Given the description of an element on the screen output the (x, y) to click on. 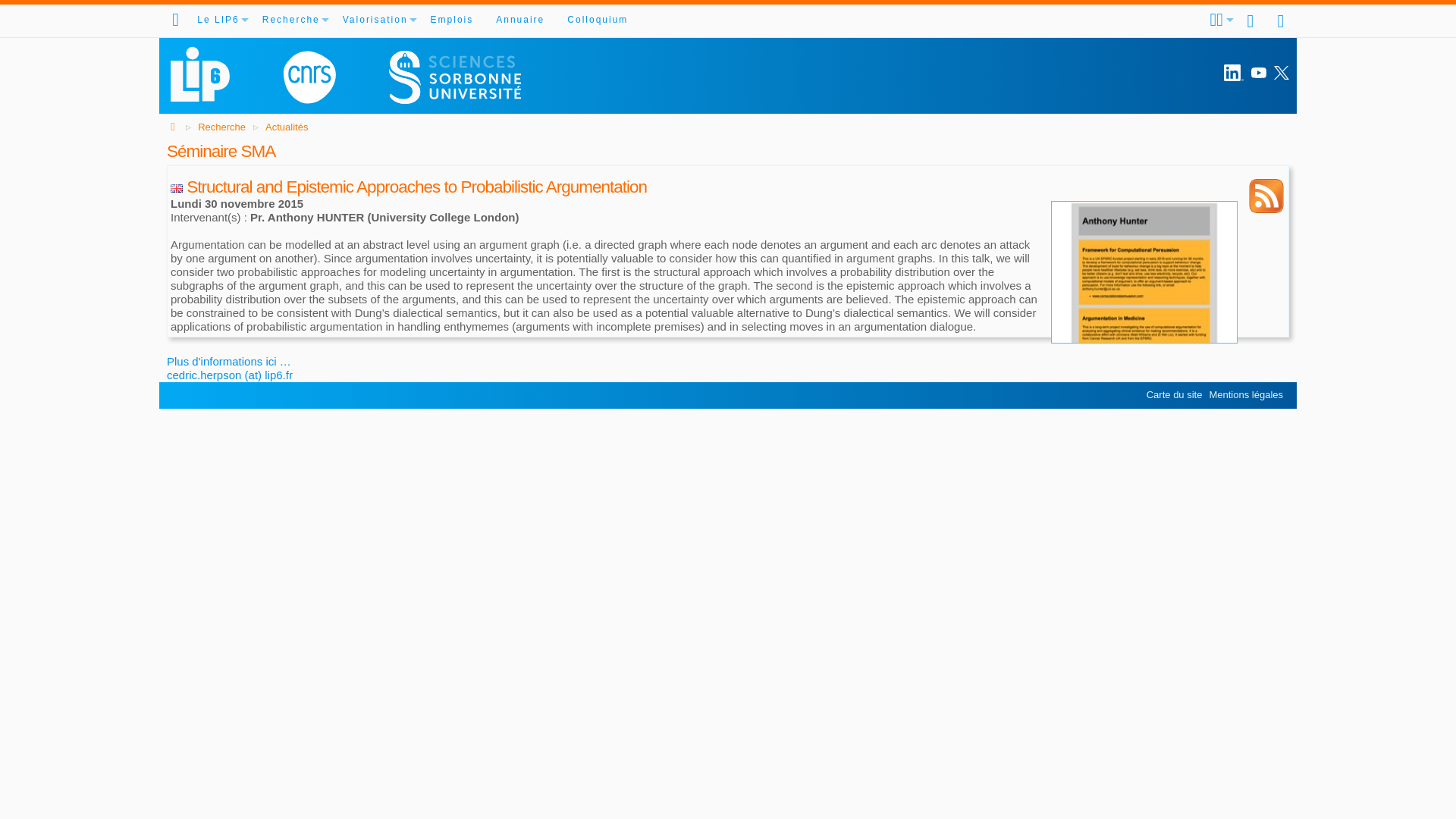
Intranet (1281, 20)
Emplois (451, 19)
Follow on X (1281, 72)
WebMail (1251, 20)
Recherche (290, 19)
YouTube (1258, 72)
Le LIP6 (218, 19)
Annuaire (520, 19)
Valorisation (375, 19)
